Given the description of an element on the screen output the (x, y) to click on. 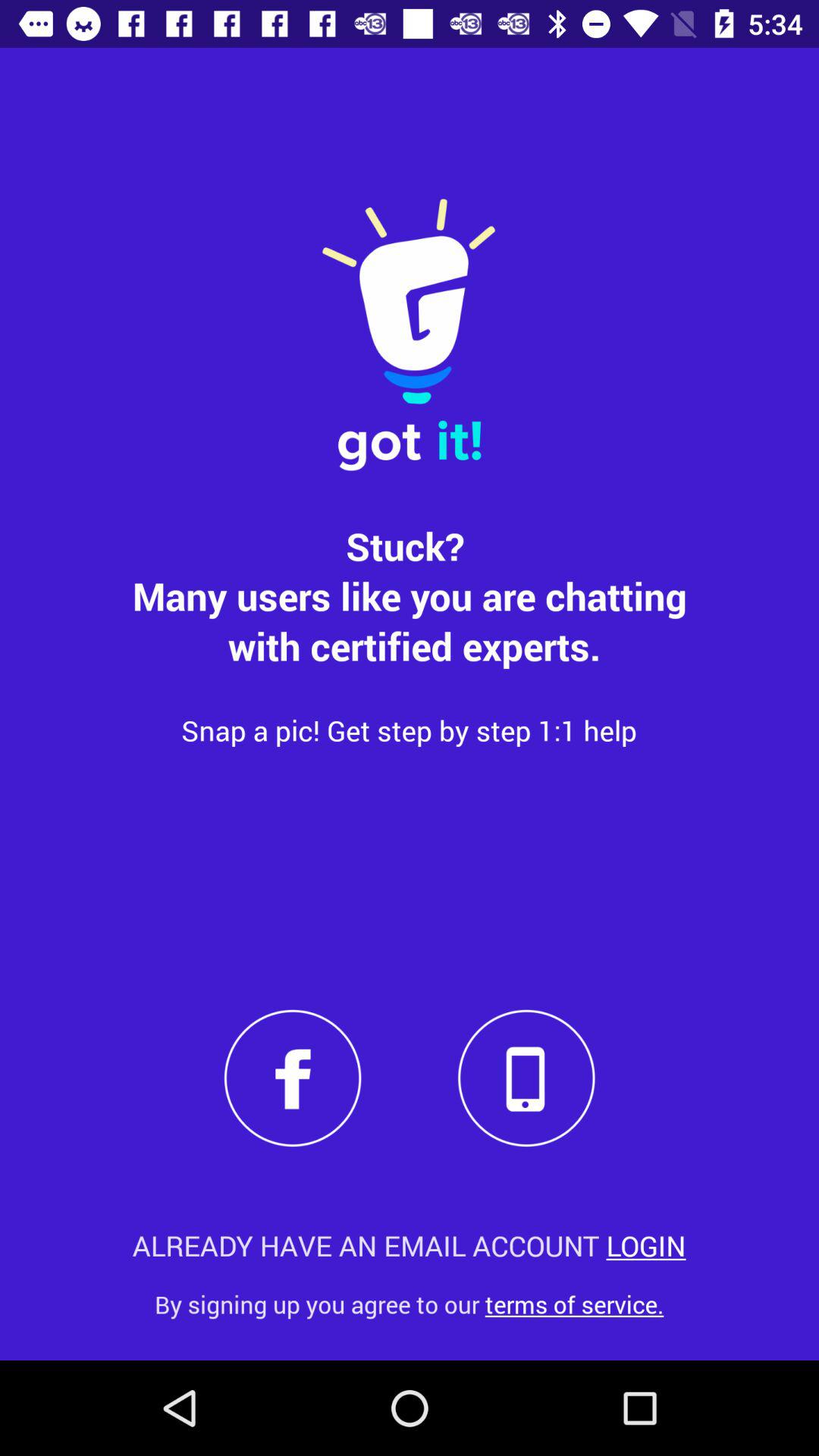
select phone (526, 1077)
